Given the description of an element on the screen output the (x, y) to click on. 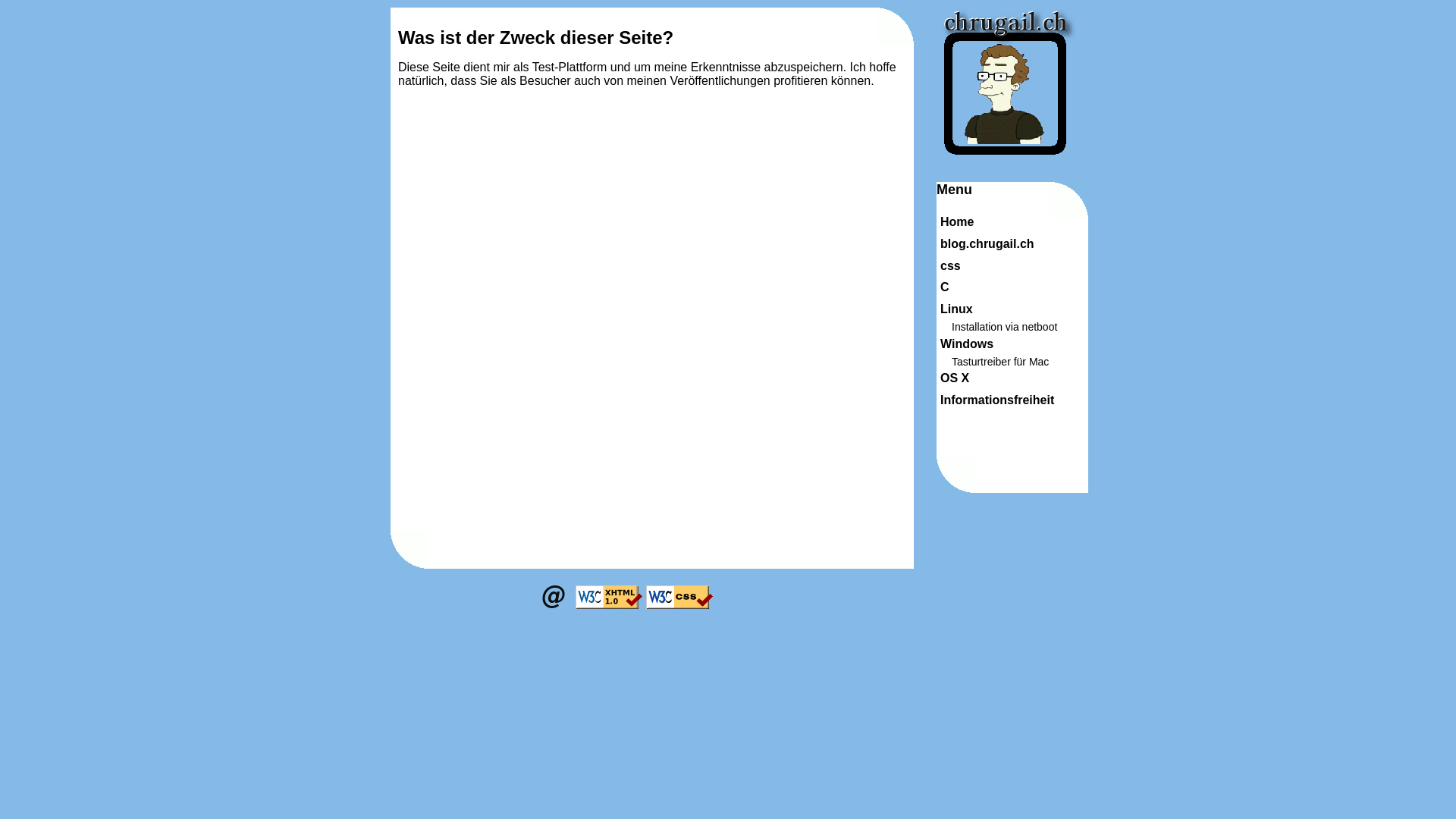
css Element type: text (950, 265)
C Element type: text (944, 286)
Windows Element type: text (966, 343)
OS X Element type: text (954, 377)
Installation via netboot Element type: text (1004, 326)
Home Element type: text (956, 221)
Linux Element type: text (956, 308)
blog.chrugail.ch Element type: text (987, 243)
Informationsfreiheit Element type: text (997, 399)
